Given the description of an element on the screen output the (x, y) to click on. 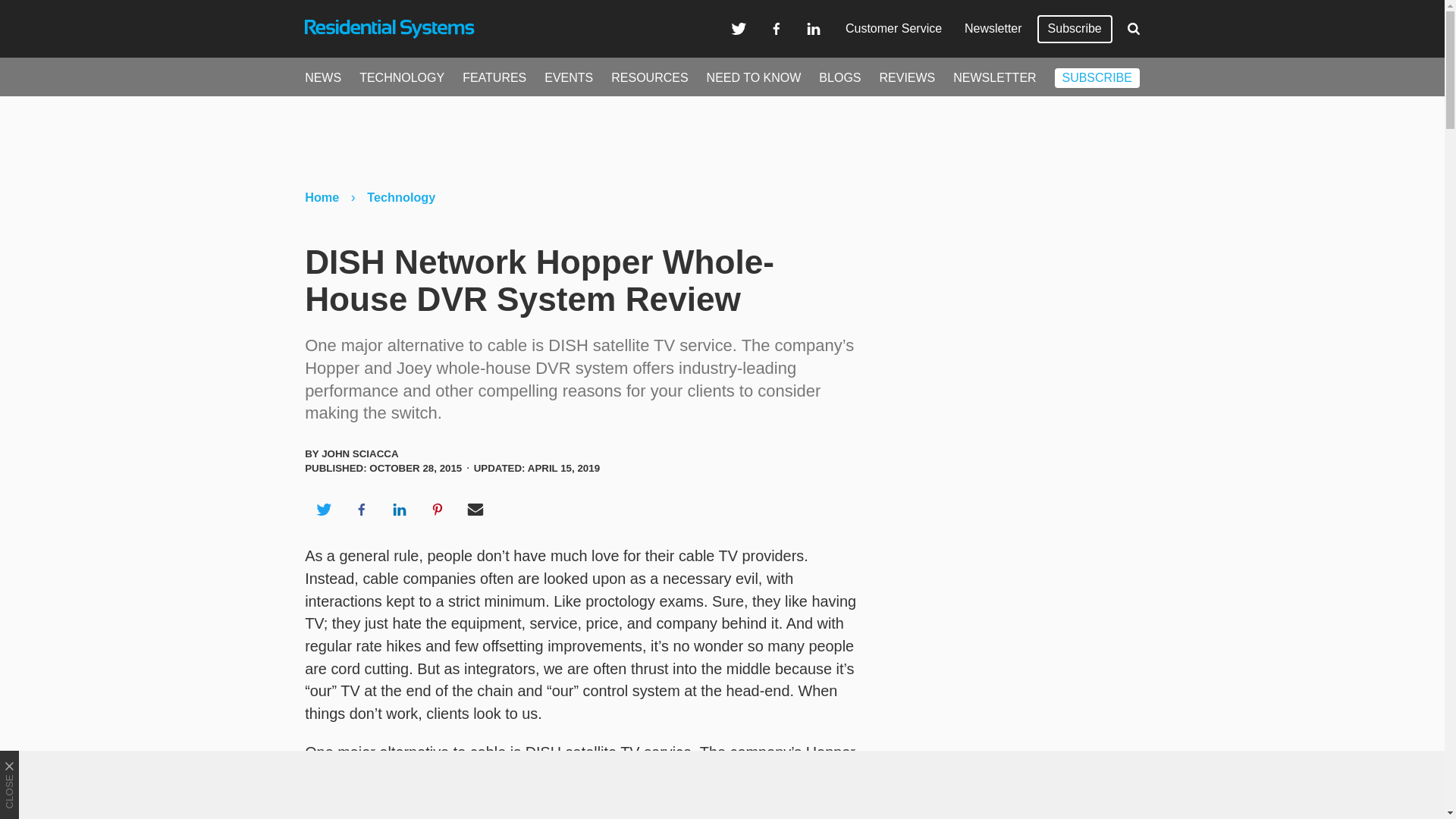
Share on Facebook (361, 509)
Share on LinkedIn (399, 509)
Share via Email (476, 509)
Share on Pinterest (438, 509)
Share on Twitter (323, 509)
